Given the description of an element on the screen output the (x, y) to click on. 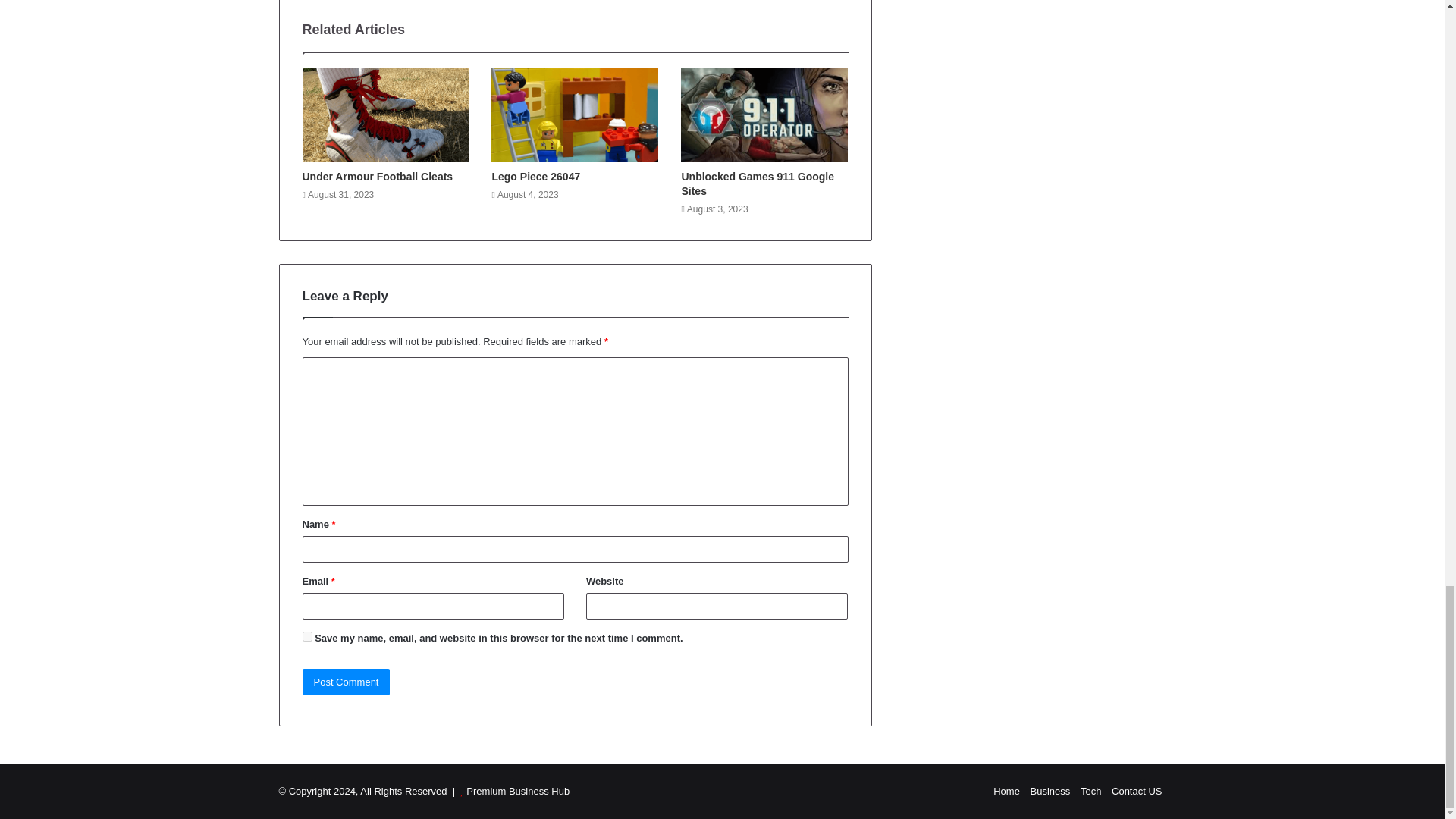
Post Comment (345, 682)
yes (306, 636)
